Given the description of an element on the screen output the (x, y) to click on. 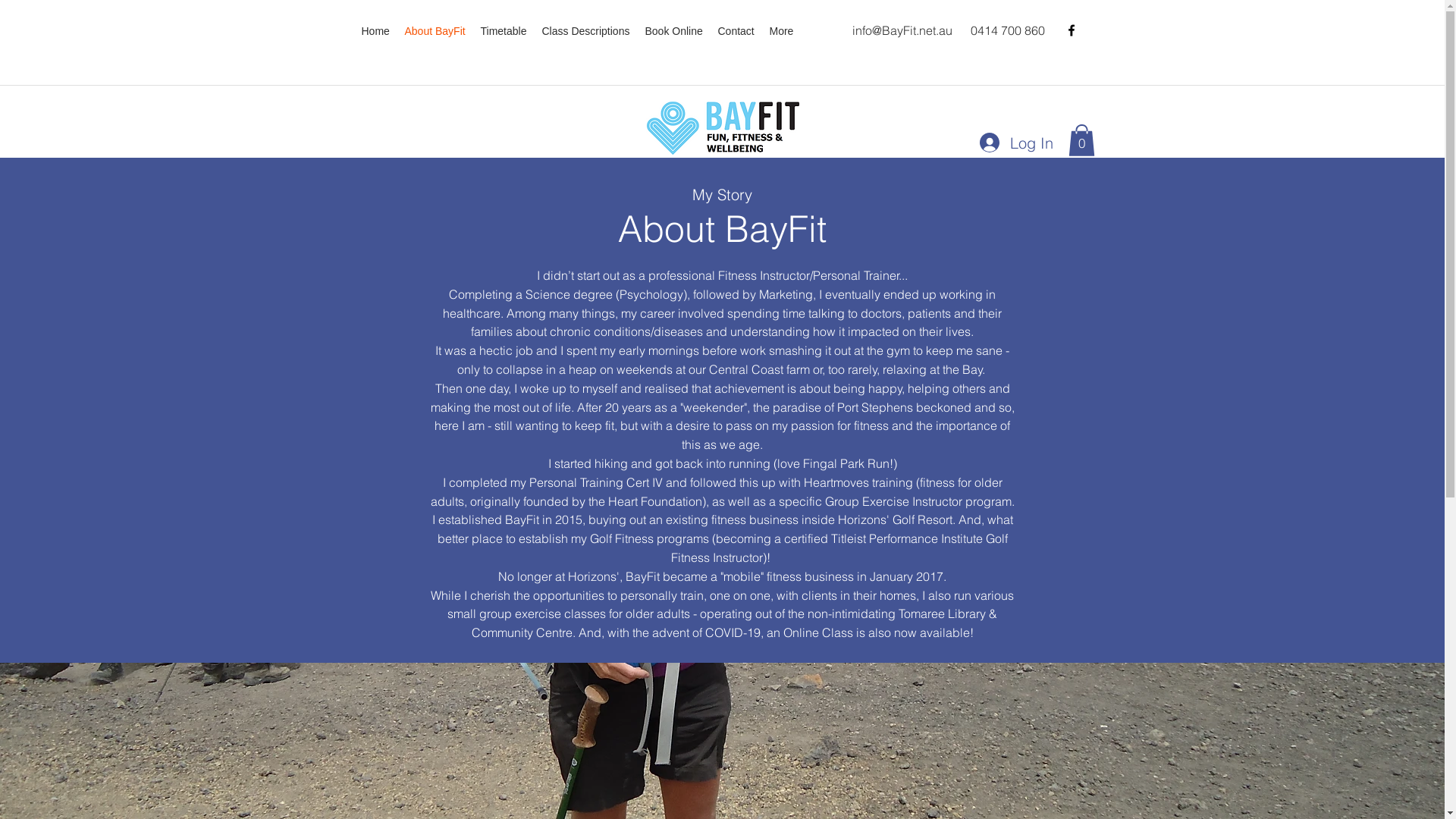
Timetable Element type: text (503, 31)
Home Element type: text (374, 31)
Book Online Element type: text (673, 31)
Class Descriptions Element type: text (585, 31)
Log In Element type: text (1016, 142)
Contact Element type: text (735, 31)
info@BayFit.net.au Element type: text (902, 29)
About BayFit Element type: text (435, 31)
0 Element type: text (1080, 140)
